Given the description of an element on the screen output the (x, y) to click on. 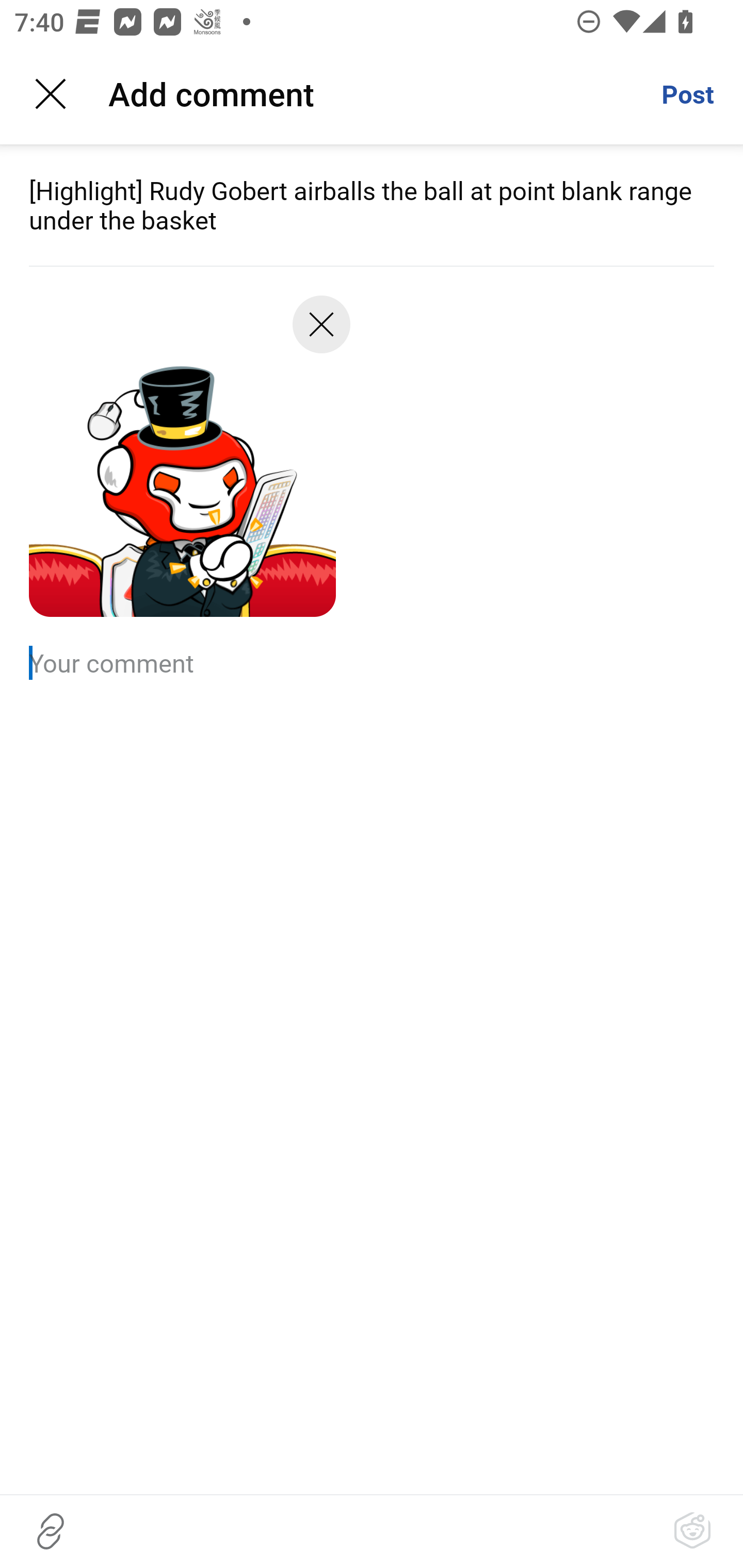
Close (50, 93)
Post (687, 94)
Close (320, 331)
bravo expression (181, 463)
Your comment (371, 662)
Insert a link (50, 1530)
Show Expressions (692, 1530)
